Given the description of an element on the screen output the (x, y) to click on. 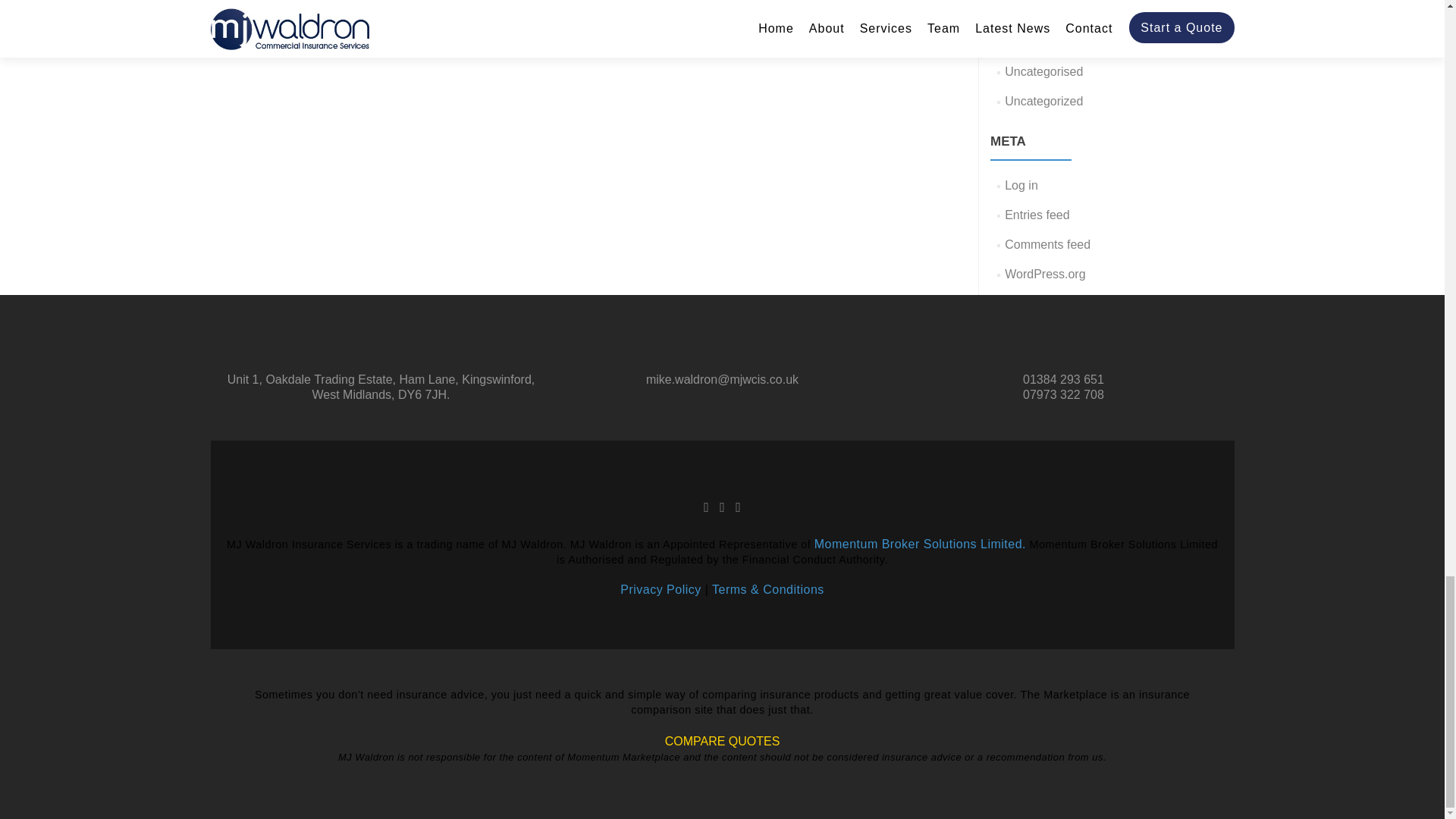
Facebook link (706, 506)
Twitter link (722, 506)
Linkedin link (738, 506)
